Given the description of an element on the screen output the (x, y) to click on. 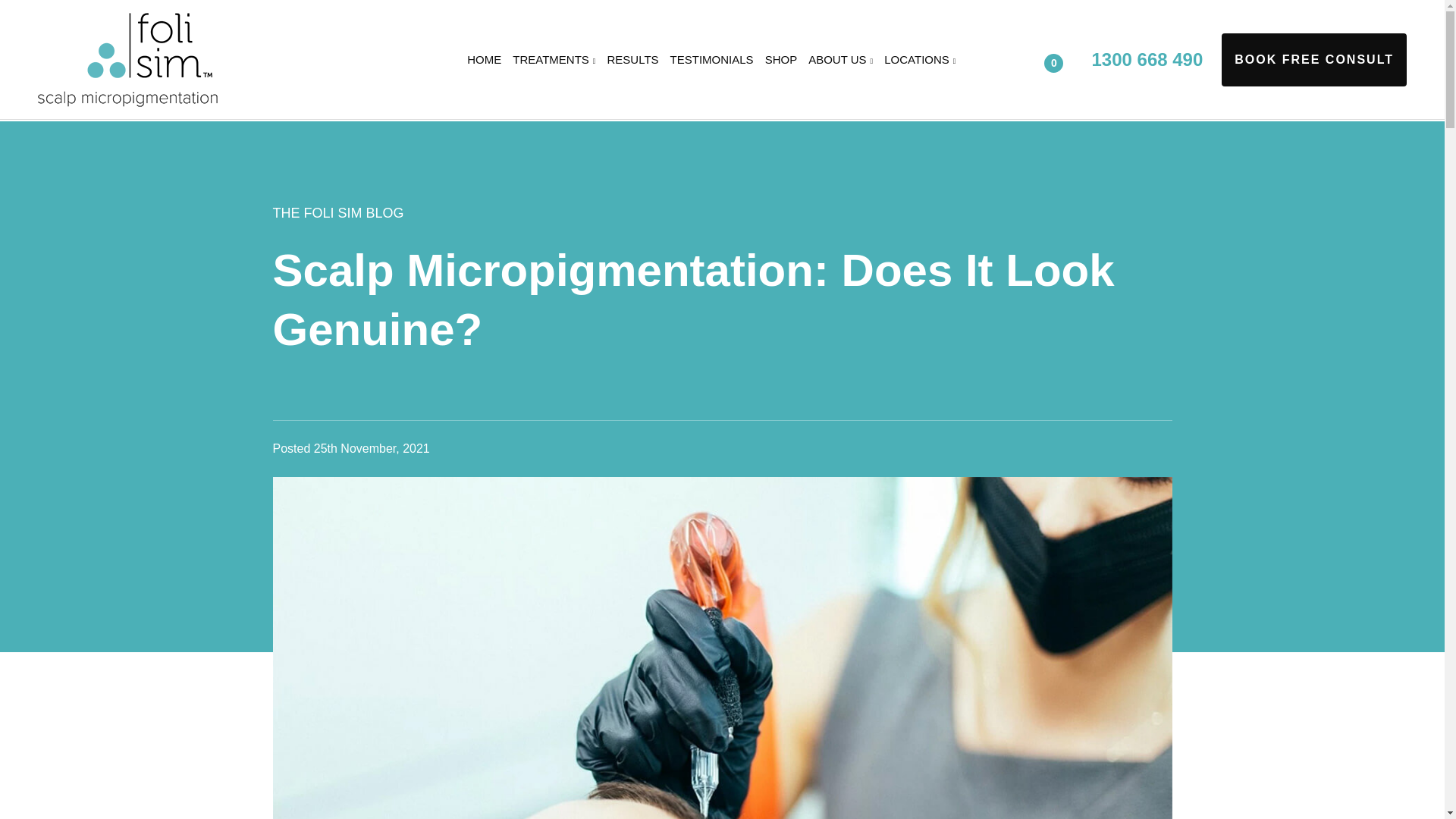
TESTIMONIALS (711, 59)
1300 668 490 (1146, 59)
ABOUT US (840, 59)
LOCATIONS (917, 59)
SHOP (781, 59)
BOOK FREE CONSULT (1313, 59)
TREATMENTS (553, 59)
HOME (486, 59)
RESULTS (632, 59)
0 (1066, 58)
